Given the description of an element on the screen output the (x, y) to click on. 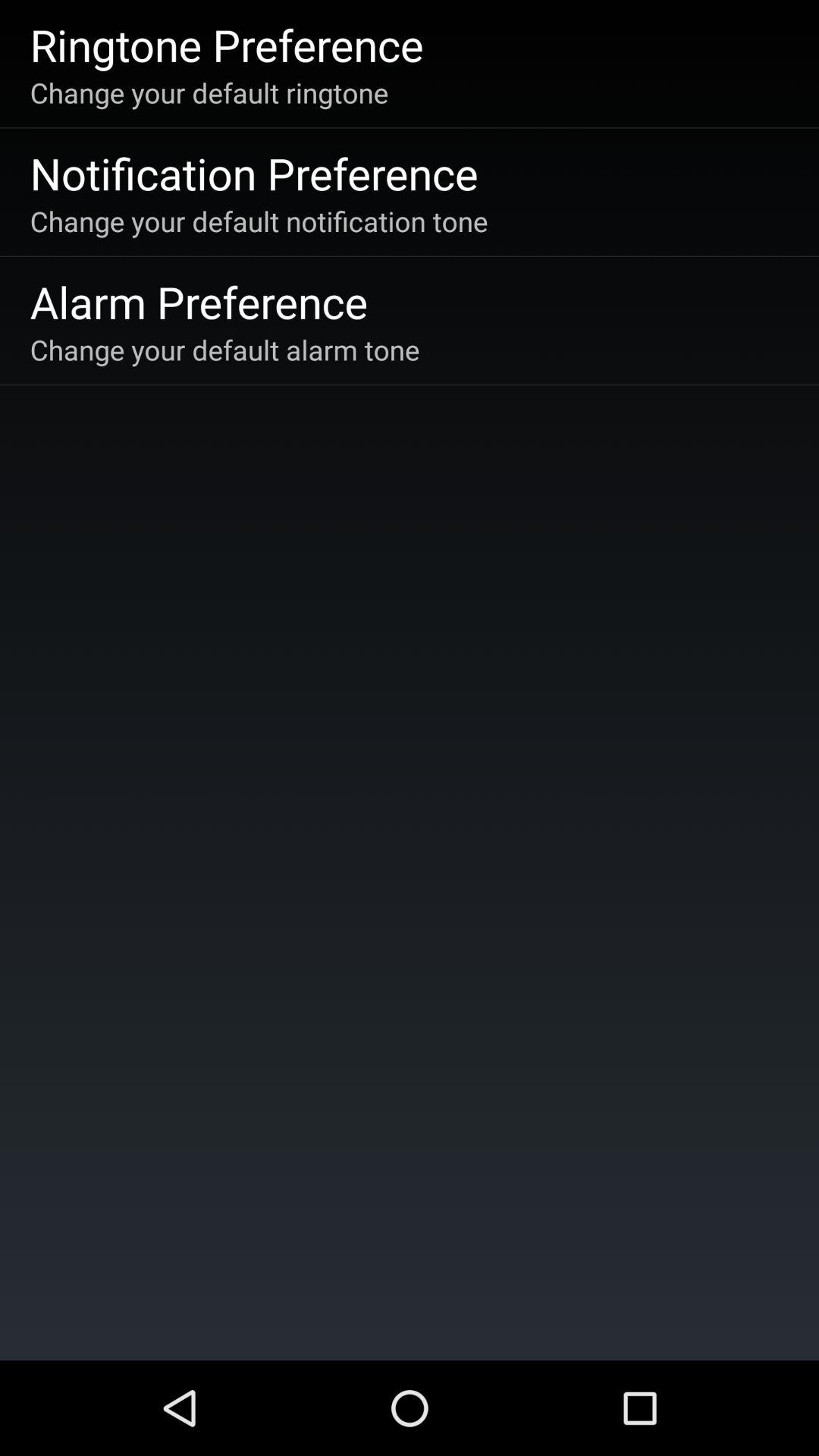
turn off app above change your default icon (226, 44)
